Given the description of an element on the screen output the (x, y) to click on. 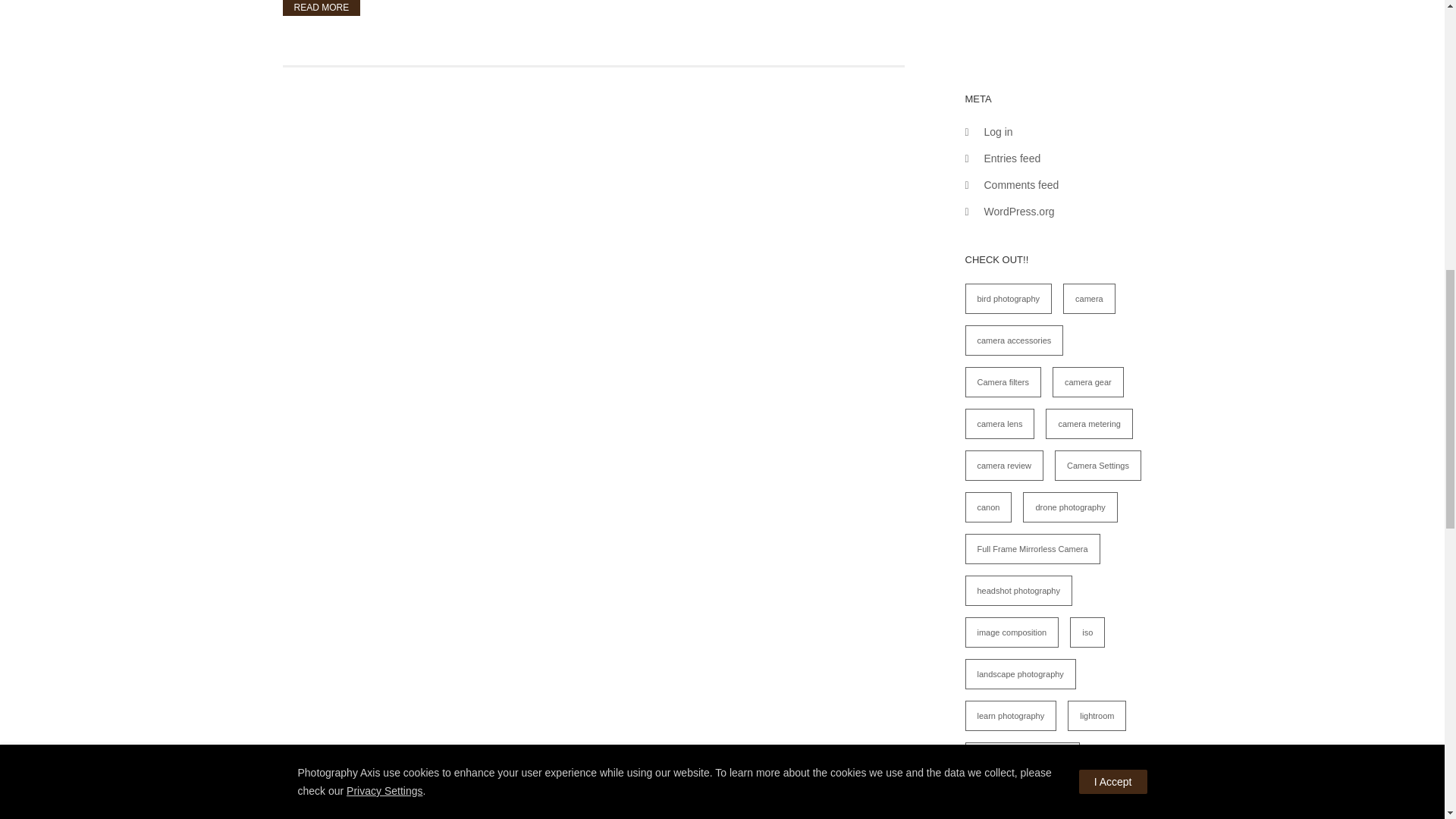
Entries feed (1012, 158)
Comments feed (1021, 184)
Log in (998, 132)
READ MORE (320, 7)
WordPress.org (1019, 211)
